Given the description of an element on the screen output the (x, y) to click on. 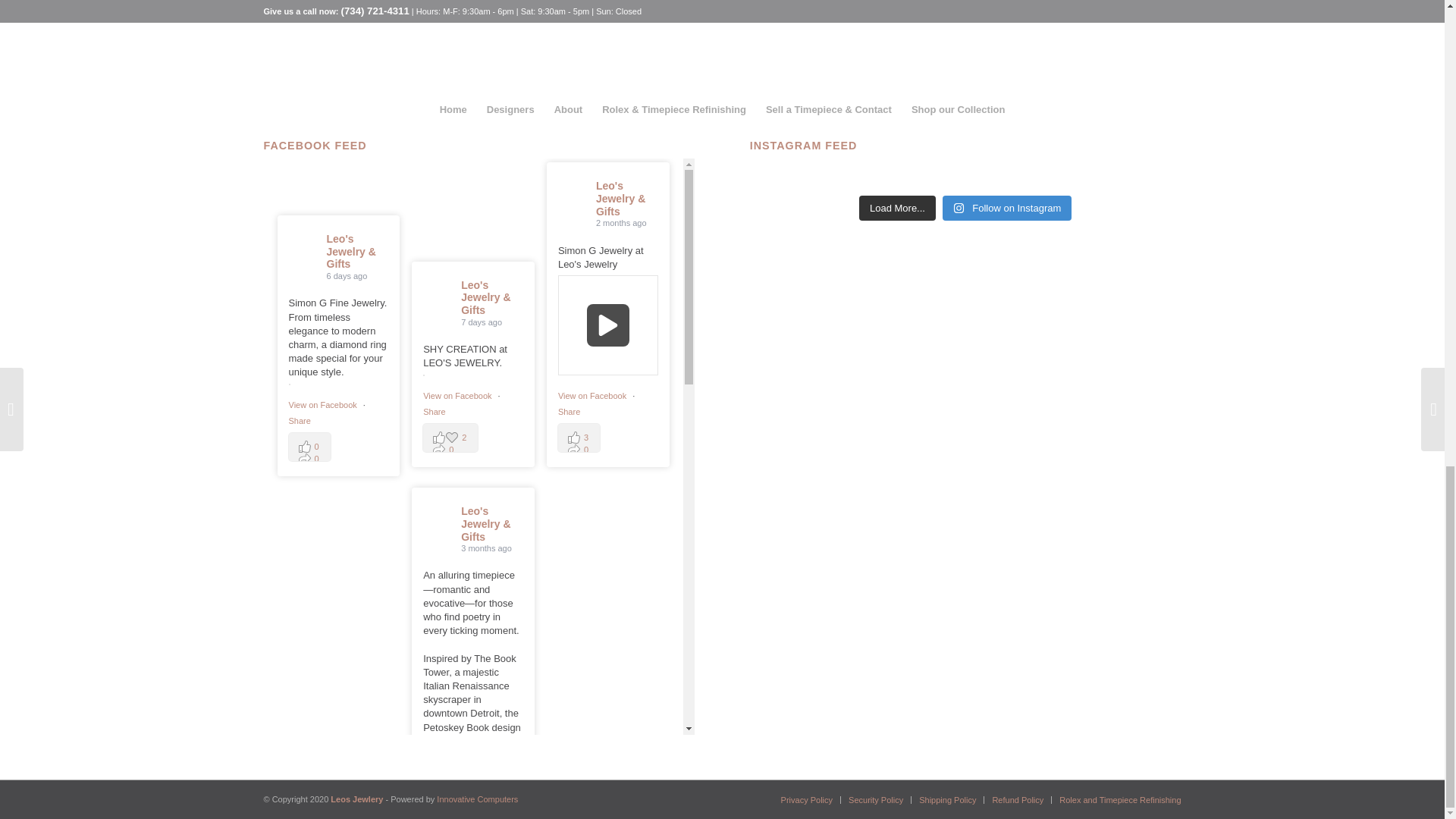
View on Facebook (323, 461)
Share (299, 477)
View on Facebook (458, 601)
Share (434, 340)
Share (568, 307)
View on Facebook (458, 325)
View on Facebook (592, 292)
